Given the description of an element on the screen output the (x, y) to click on. 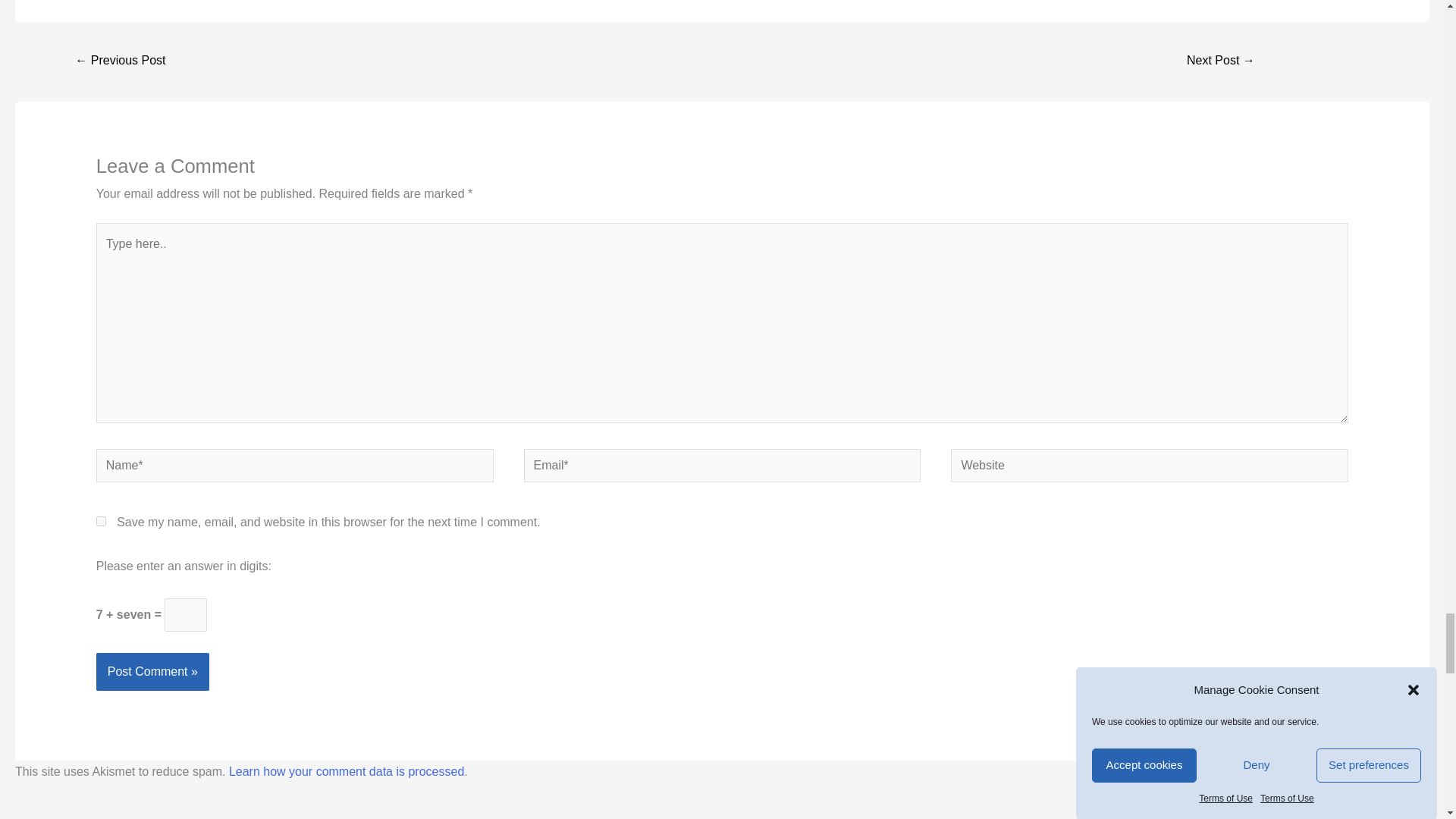
Design Sprint from Google Venture by Jake Knapp (119, 61)
yes (101, 521)
